Given the description of an element on the screen output the (x, y) to click on. 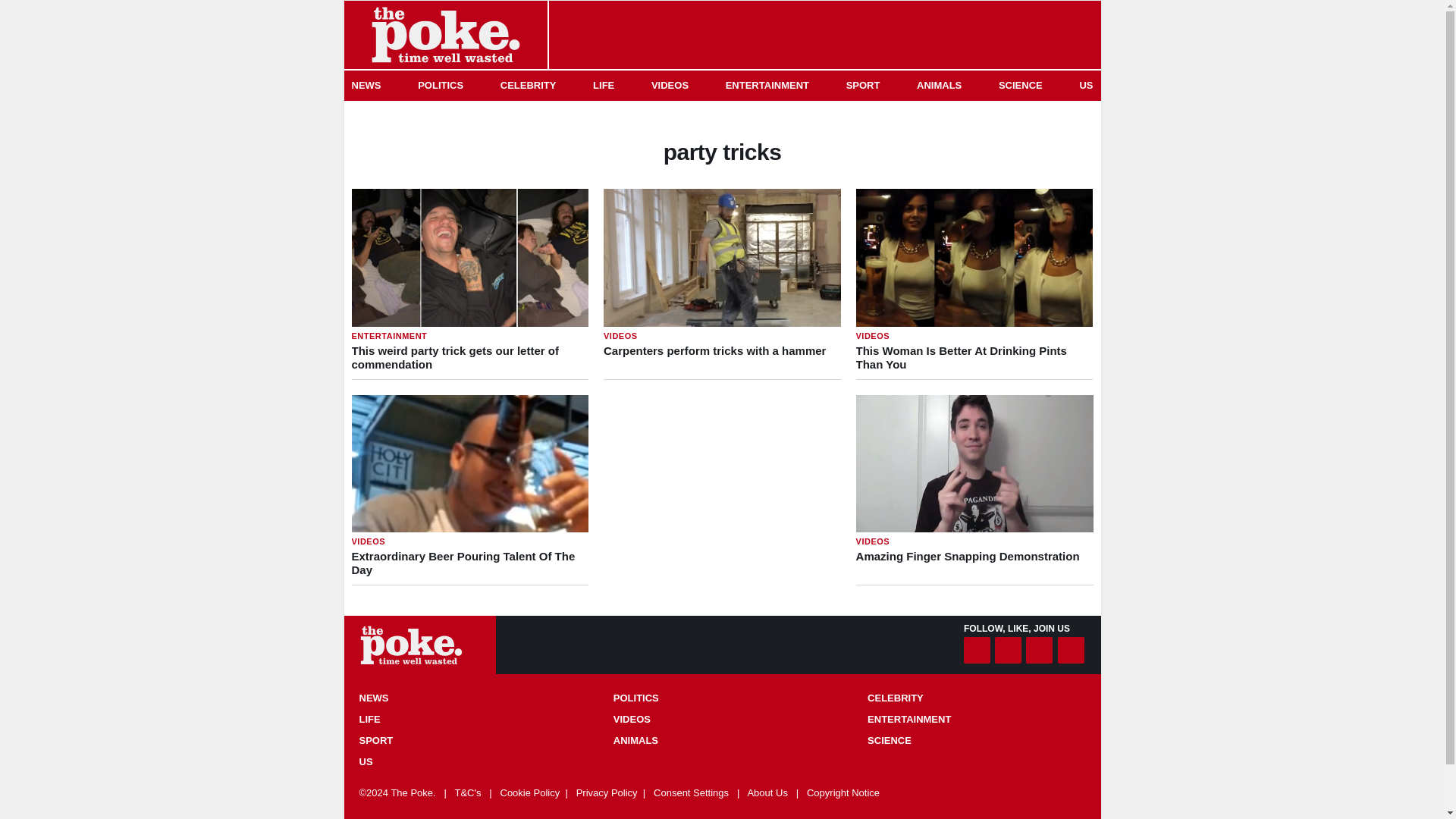
Cookie Policy (530, 792)
POLITICS (721, 697)
SCIENCE (975, 740)
SPORT (974, 284)
SCIENCE (863, 85)
LIFE (1020, 85)
VIDEOS (467, 719)
CELEBRITY (669, 85)
VIDEOS (975, 697)
